Given the description of an element on the screen output the (x, y) to click on. 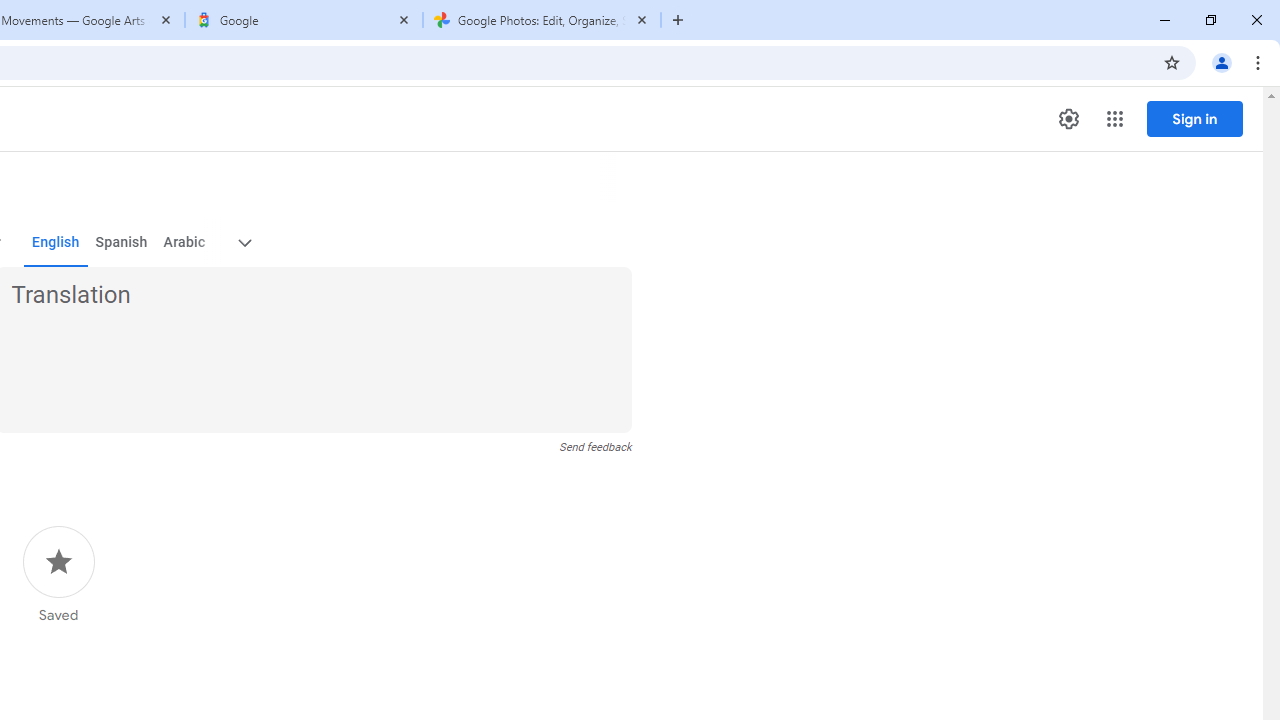
Google (304, 20)
More target languages (244, 242)
Spanish (121, 242)
Arabic (183, 242)
Settings (1068, 119)
Saved (57, 575)
Send feedback (595, 447)
